Given the description of an element on the screen output the (x, y) to click on. 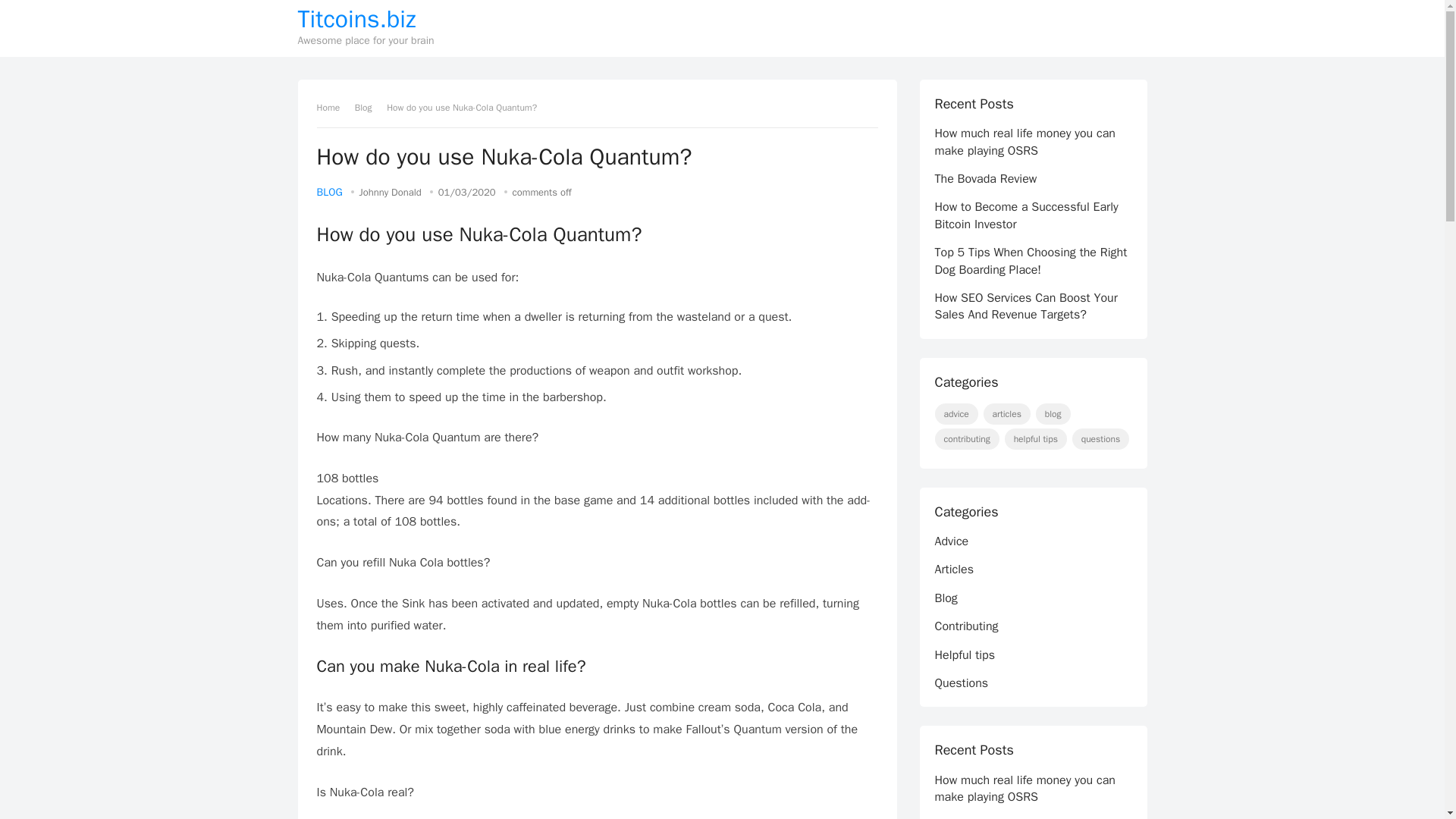
The Bovada Review (985, 178)
How to Become a Successful Early Bitcoin Investor (1026, 214)
How much real life money you can make playing OSRS (1024, 142)
Home (333, 107)
How SEO Services Can Boost Your Sales And Revenue Targets? (1025, 306)
BLOG (329, 192)
Blog (368, 107)
articles (1007, 414)
Titcoins.biz (365, 19)
advice (955, 414)
Posts by Johnny Donald (390, 192)
Johnny Donald (390, 192)
Top 5 Tips When Choosing the Right Dog Boarding Place! (1030, 260)
